Given the description of an element on the screen output the (x, y) to click on. 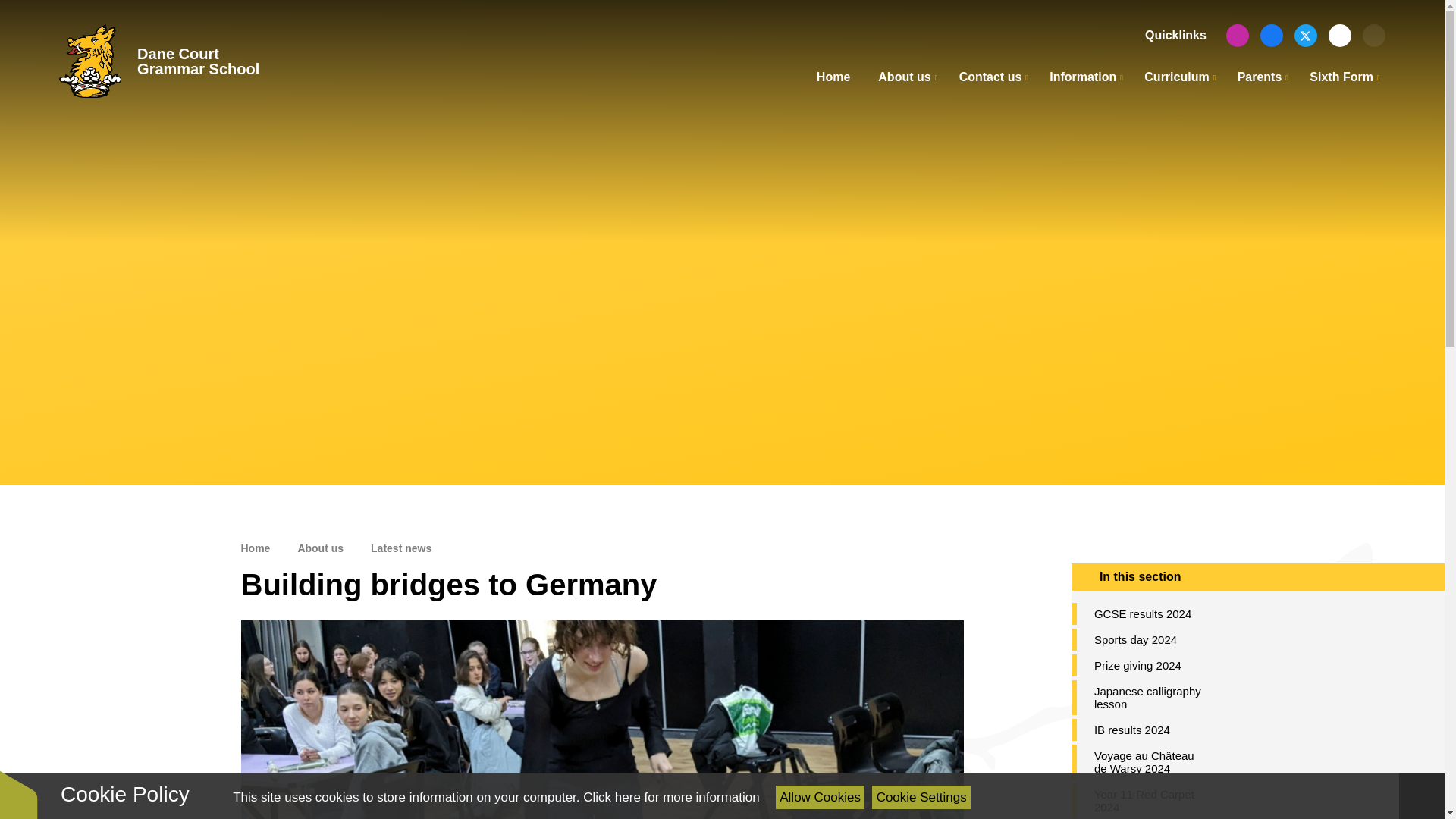
Information (1082, 76)
Facebook (1271, 35)
Quicklinks (1171, 35)
Y6 transition (1339, 35)
Home (833, 76)
About us (904, 76)
Instagram (1237, 35)
Contact us (990, 76)
